Given the description of an element on the screen output the (x, y) to click on. 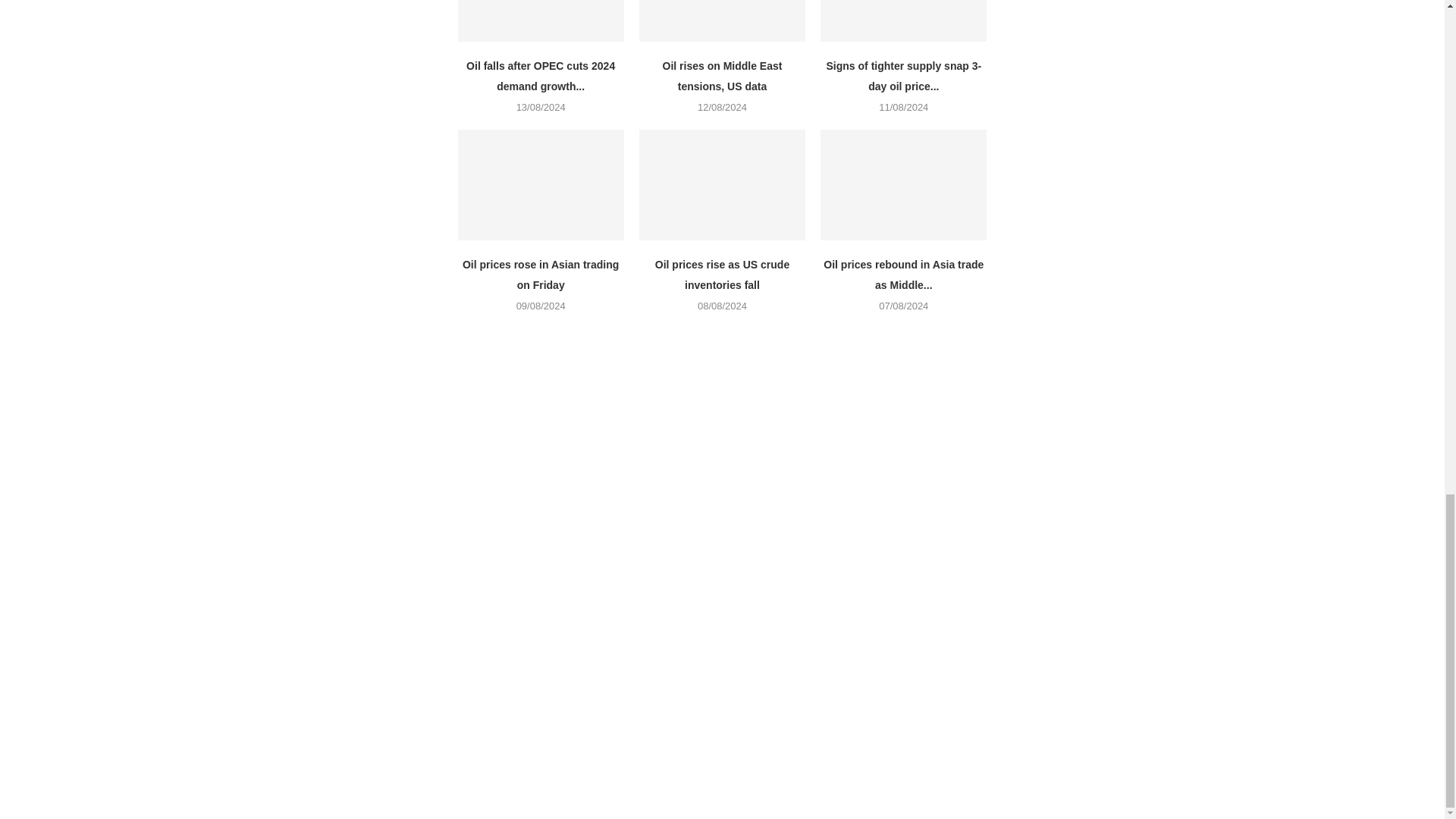
Oil rises on Middle East tensions, US data (722, 20)
Oil prices rose in Asian trading on Friday (541, 184)
Oil prices rise as US crude inventories fall (722, 274)
Oil falls after OPEC cuts 2024 demand growth forecast (541, 20)
Oil falls after OPEC cuts 2024 demand growth... (539, 75)
Oil prices rose in Asian trading on Friday (540, 274)
Signs of tighter supply snap 3-day oil price decline (904, 20)
Signs of tighter supply snap 3-day oil price... (904, 75)
Oil rises on Middle East tensions, US data (722, 75)
